Given the description of an element on the screen output the (x, y) to click on. 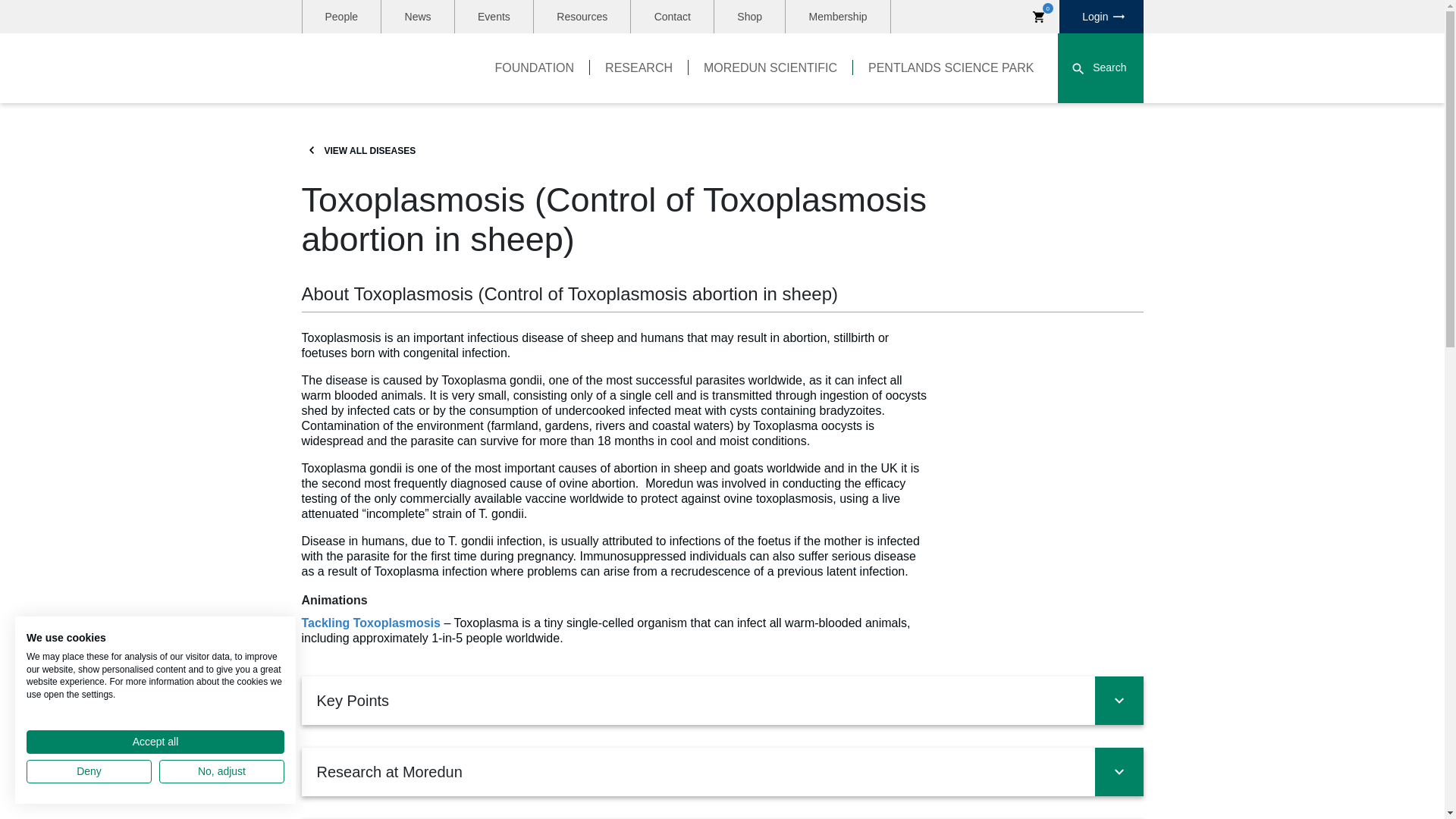
News (417, 16)
Resources (582, 16)
  0 (1038, 16)
Login (1100, 16)
Go back to the home page (379, 68)
Shop (749, 16)
Contact (672, 16)
MOREDUN SCIENTIFIC (770, 68)
Membership (837, 16)
RESEARCH (638, 68)
